Given the description of an element on the screen output the (x, y) to click on. 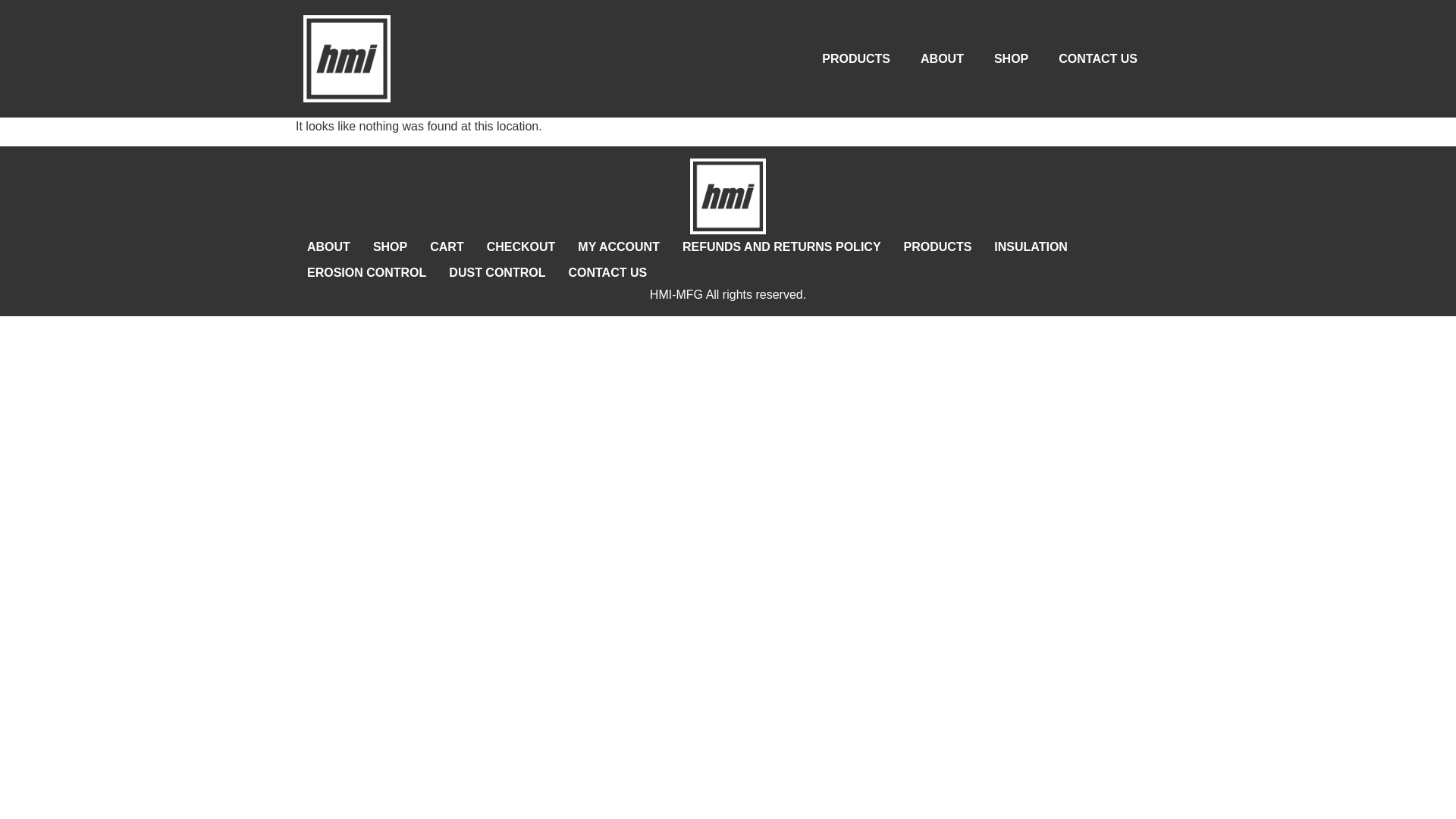
EROSION CONTROL (366, 272)
REFUNDS AND RETURNS POLICY (781, 247)
CART (446, 247)
CONTACT US (1098, 58)
ABOUT (941, 58)
PRODUCTS (938, 247)
MY ACCOUNT (618, 247)
SHOP (1010, 58)
CHECKOUT (521, 247)
INSULATION (1030, 247)
